Given the description of an element on the screen output the (x, y) to click on. 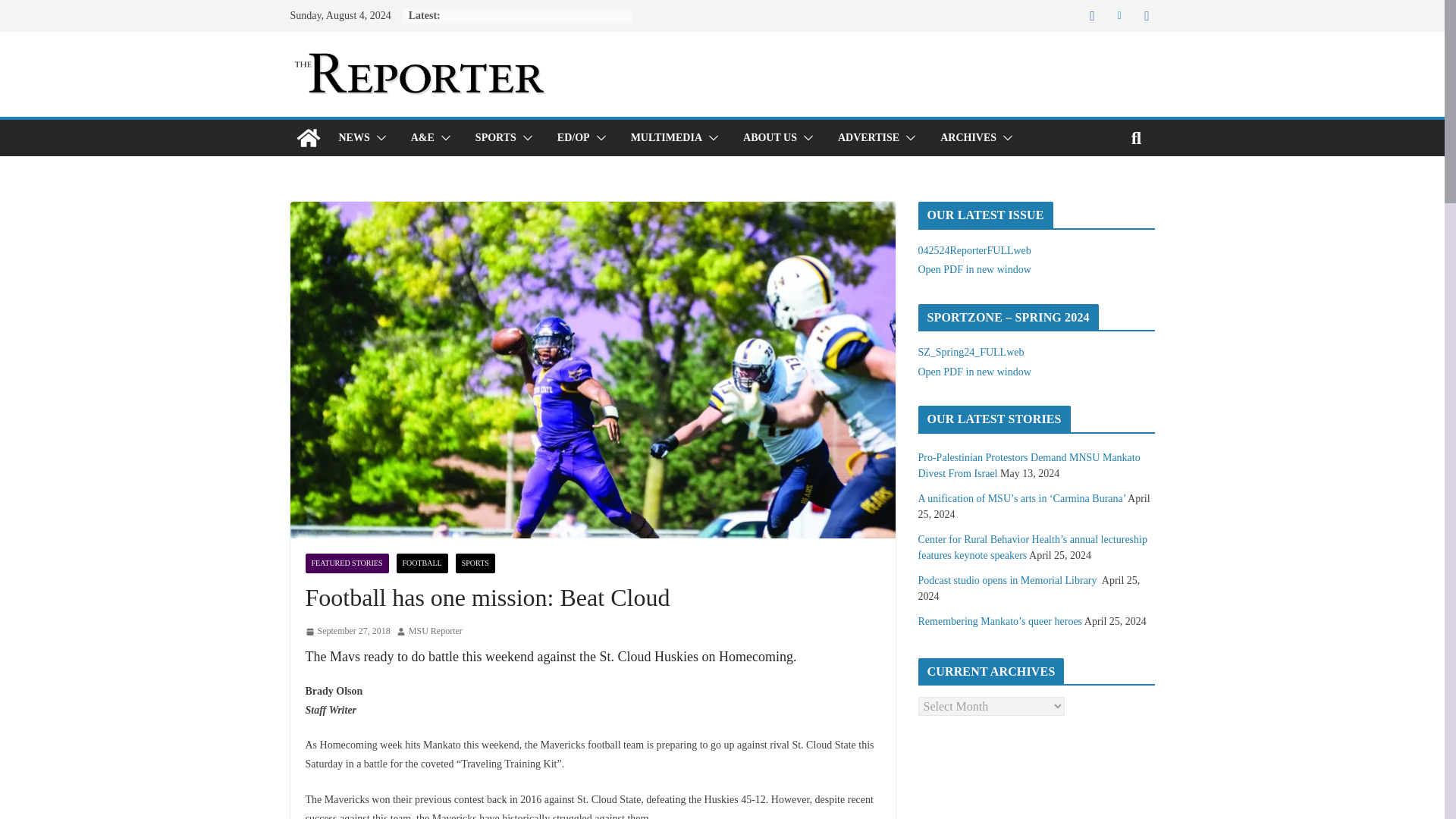
NEWS (353, 137)
SPORTS (496, 137)
MSU Reporter (436, 631)
MULTIMEDIA (665, 137)
12:00 am (347, 631)
